Given the description of an element on the screen output the (x, y) to click on. 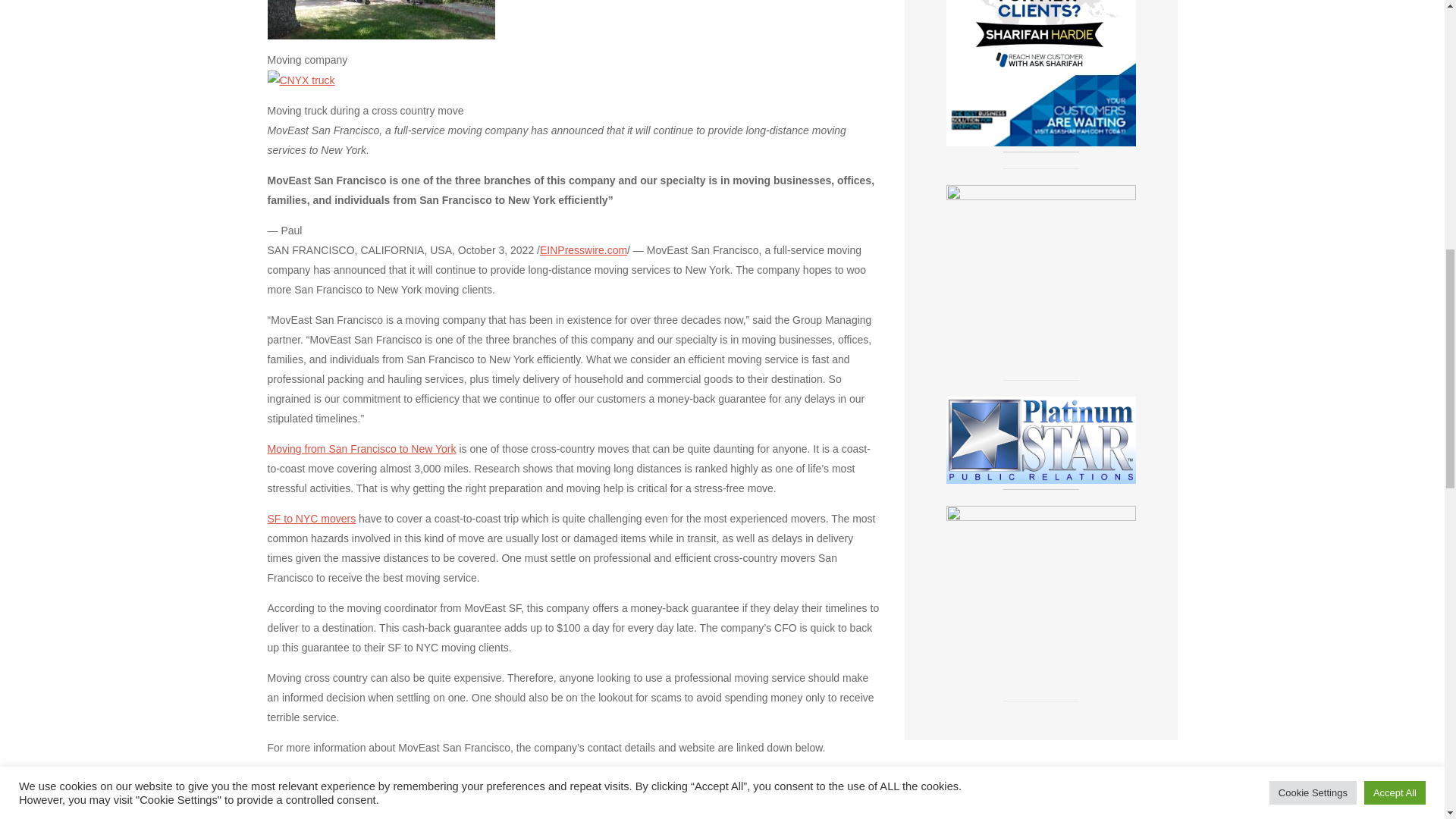
EINPresswire.com (583, 250)
SF to NYC movers (310, 518)
Moving from San Francisco to New York (360, 449)
